Given the description of an element on the screen output the (x, y) to click on. 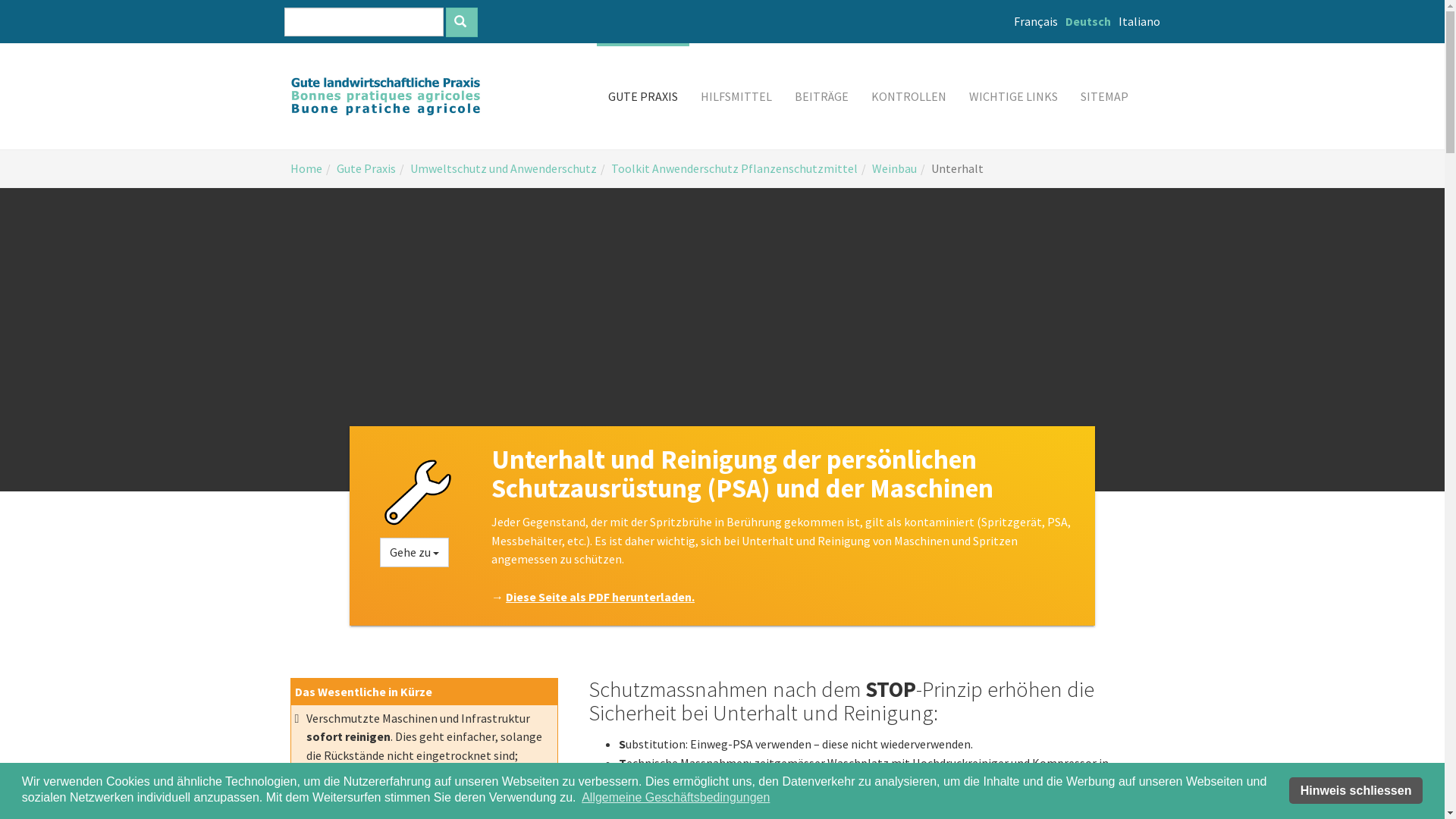
Umweltschutz und Anwenderschutz Element type: text (502, 167)
Home Element type: text (305, 167)
Italiano Element type: text (1139, 20)
Hinweis schliessen Element type: text (1355, 790)
Gehe zu Element type: text (413, 552)
Weinbau Element type: text (894, 167)
WICHTIGE LINKS Element type: text (1012, 96)
SITEMAP Element type: text (1104, 96)
KONTROLLEN Element type: text (908, 96)
Toolkit Anwenderschutz Pflanzenschutzmittel Element type: text (734, 167)
HILFSMITTEL Element type: text (735, 96)
Gute Praxis Element type: text (365, 167)
Deutsch Element type: text (1087, 20)
GUTE PRAXIS Element type: text (642, 96)
